Given the description of an element on the screen output the (x, y) to click on. 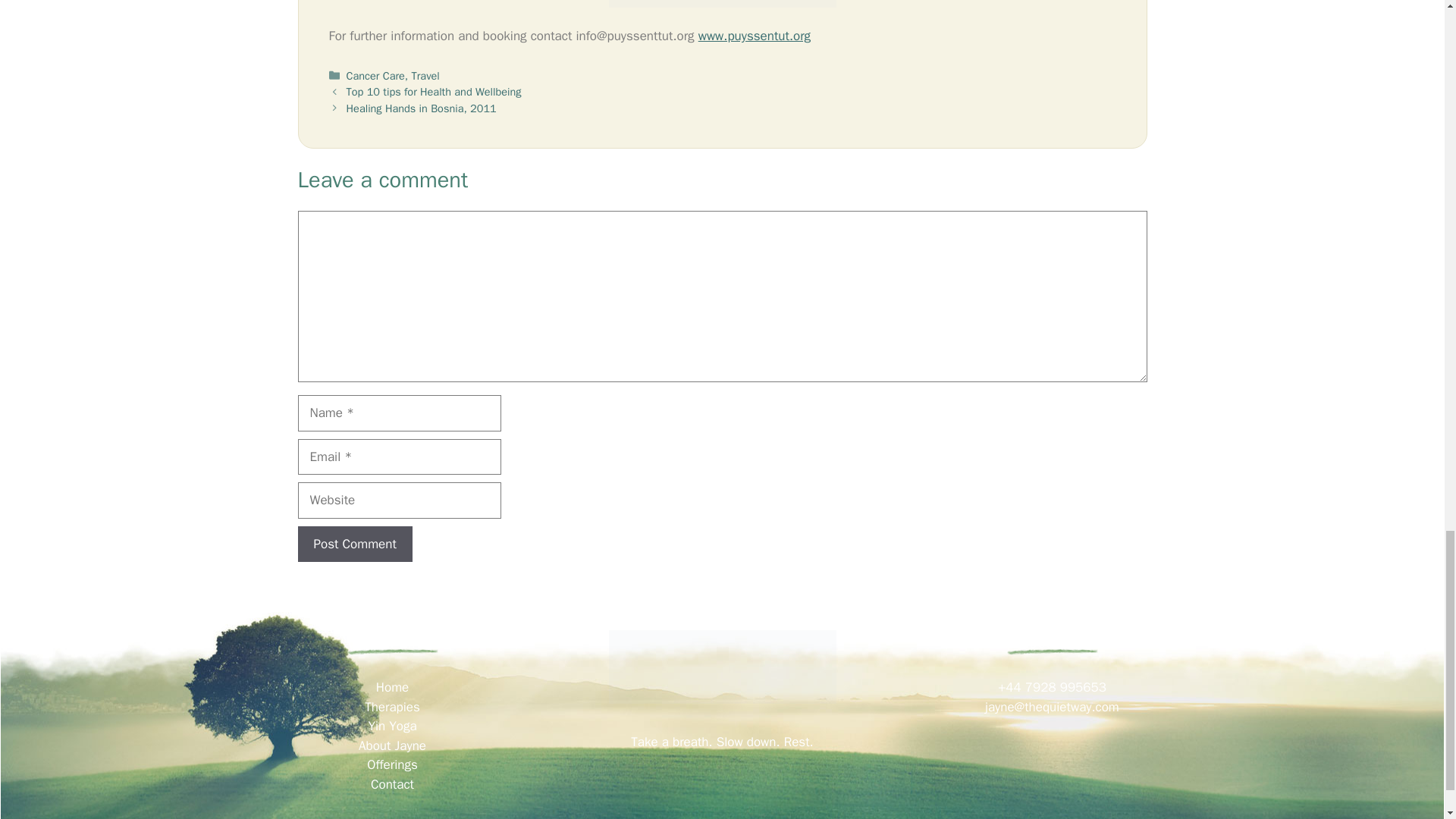
Cancer Care (375, 75)
Home (392, 687)
Healing Hands in Bosnia, 2011 (421, 108)
Post Comment (354, 544)
Contact (392, 784)
About Jayne (392, 745)
Offerings (391, 764)
Yin Yoga (392, 725)
Top 10 tips for Health and Wellbeing (433, 91)
Post Comment (354, 544)
Therapies (392, 706)
www.puyssentut.org (754, 35)
Travel (425, 75)
